Given the description of an element on the screen output the (x, y) to click on. 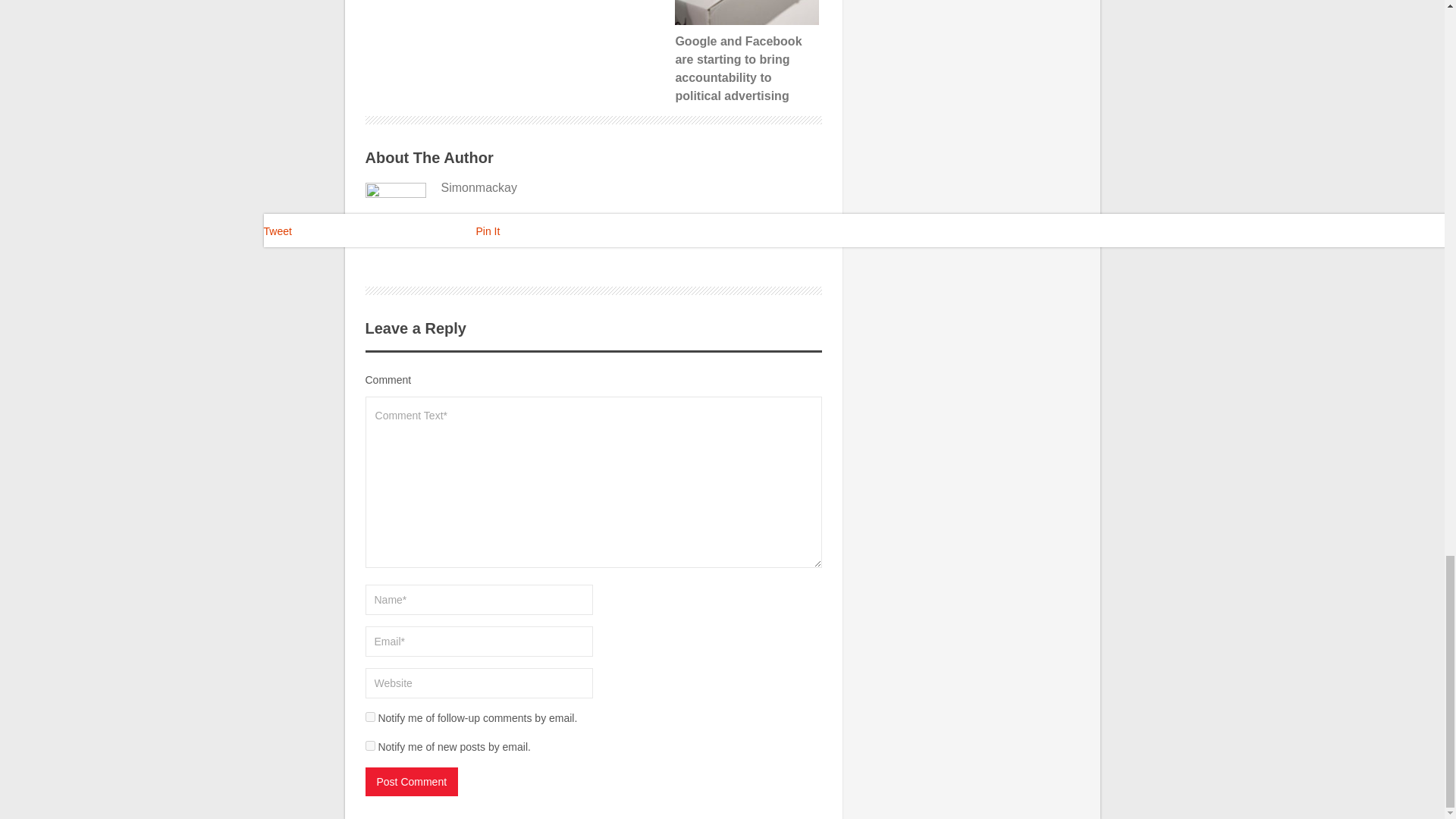
Post Comment (411, 781)
subscribe (370, 746)
subscribe (370, 716)
